Given the description of an element on the screen output the (x, y) to click on. 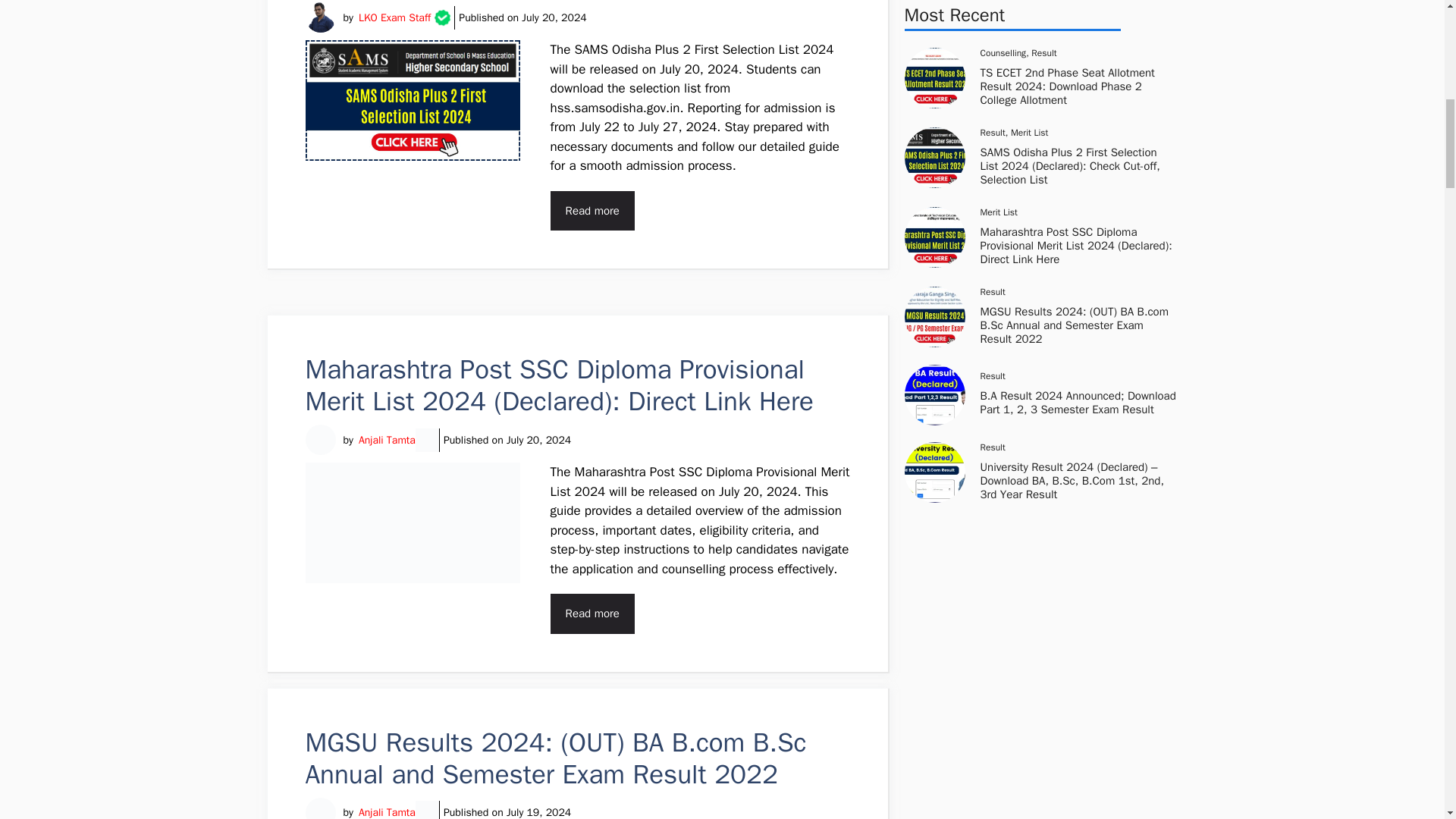
Read more (592, 210)
Read more (592, 613)
LKO Exam Staff (394, 17)
Anjali Tamta (386, 811)
Anjali Tamta (386, 439)
